Given the description of an element on the screen output the (x, y) to click on. 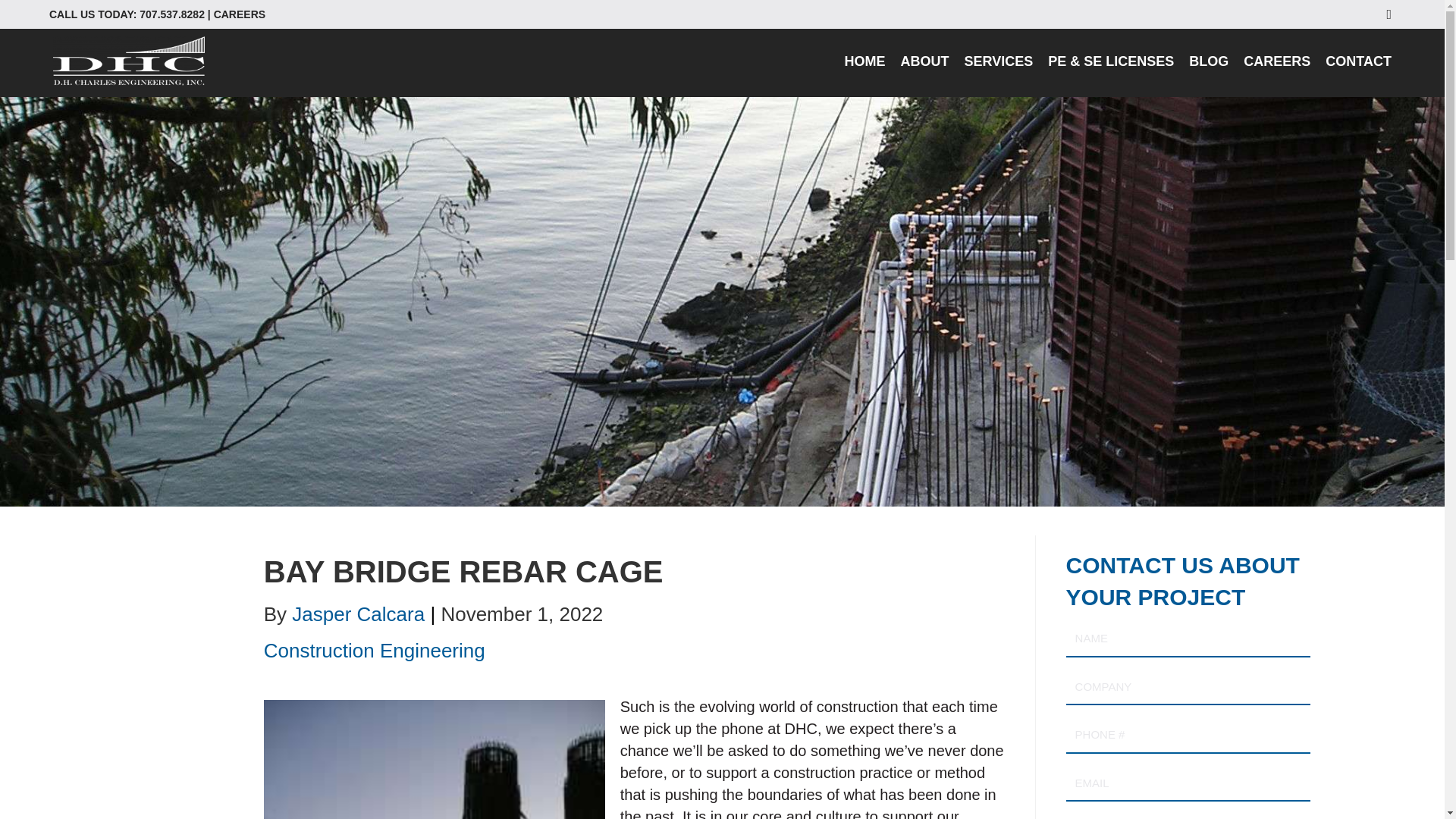
CAREERS (1276, 61)
707.537.8282 (172, 14)
SERVICES (998, 61)
CAREERS (239, 14)
CONTACT (1358, 61)
BLOG (1208, 61)
HOME (865, 61)
ABOUT (924, 61)
